Given the description of an element on the screen output the (x, y) to click on. 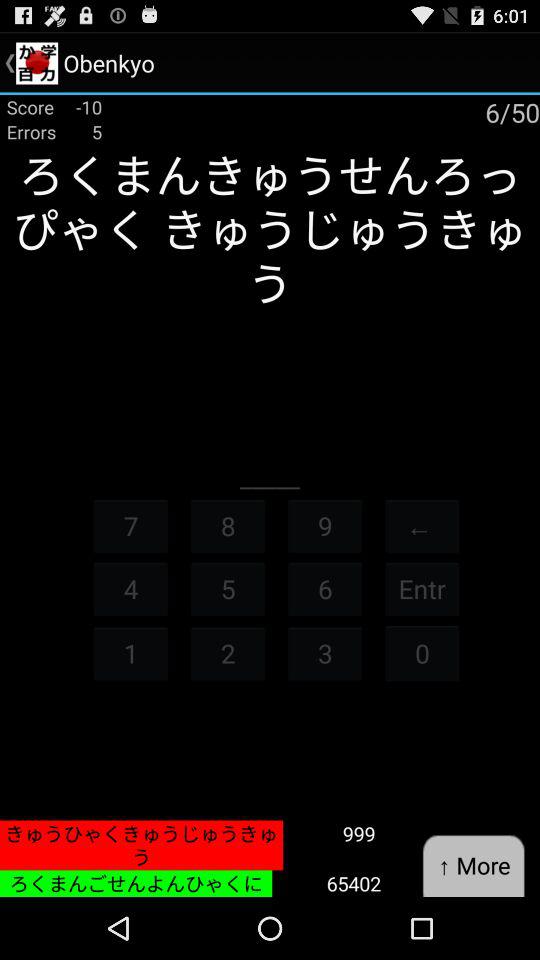
choose icon above 6 item (325, 525)
